Given the description of an element on the screen output the (x, y) to click on. 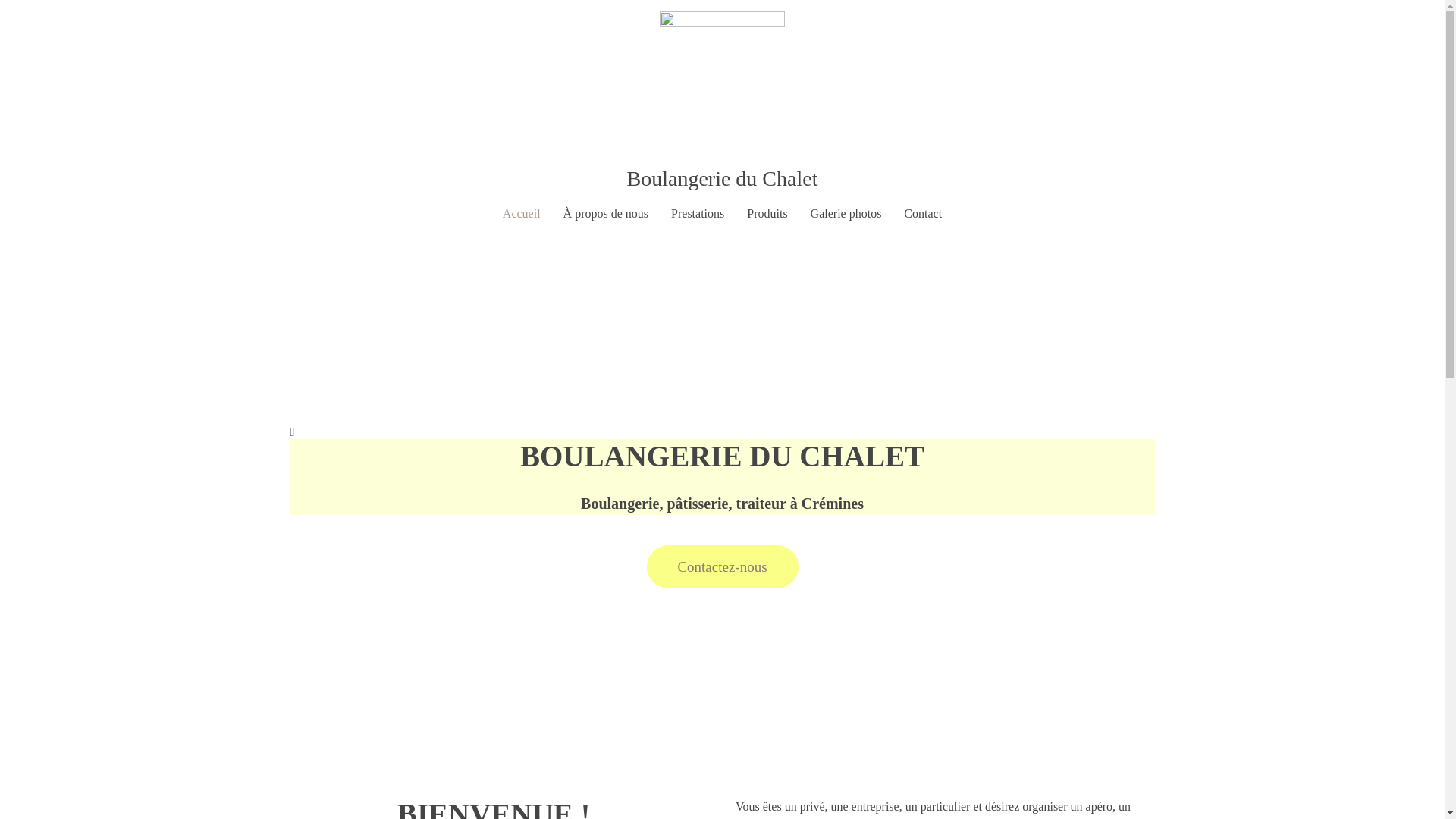
Produits Element type: text (766, 213)
Prestations Element type: text (697, 213)
Contact Element type: text (922, 213)
Contactez-nous Element type: text (721, 566)
Accueil Element type: text (521, 213)
Boulangerie du Chalet Element type: text (722, 178)
Galerie photos Element type: text (846, 213)
